Given the description of an element on the screen output the (x, y) to click on. 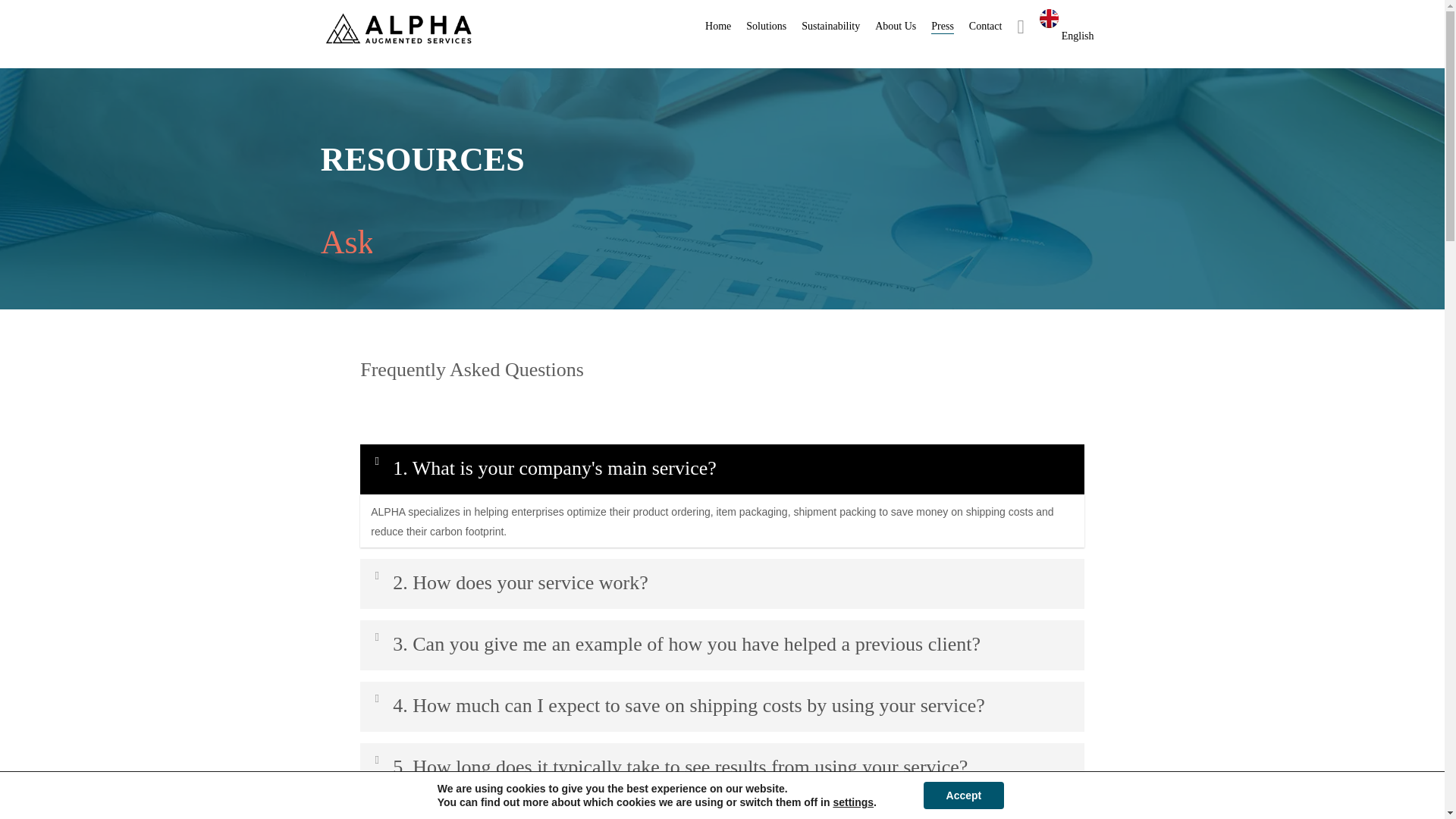
Sustainability (831, 26)
1. What is your company's main service? (721, 469)
Solutions (765, 26)
English (1066, 26)
Press (942, 26)
Home (717, 26)
2. How does your service work? (721, 583)
Contact (986, 26)
About Us (895, 26)
